Given the description of an element on the screen output the (x, y) to click on. 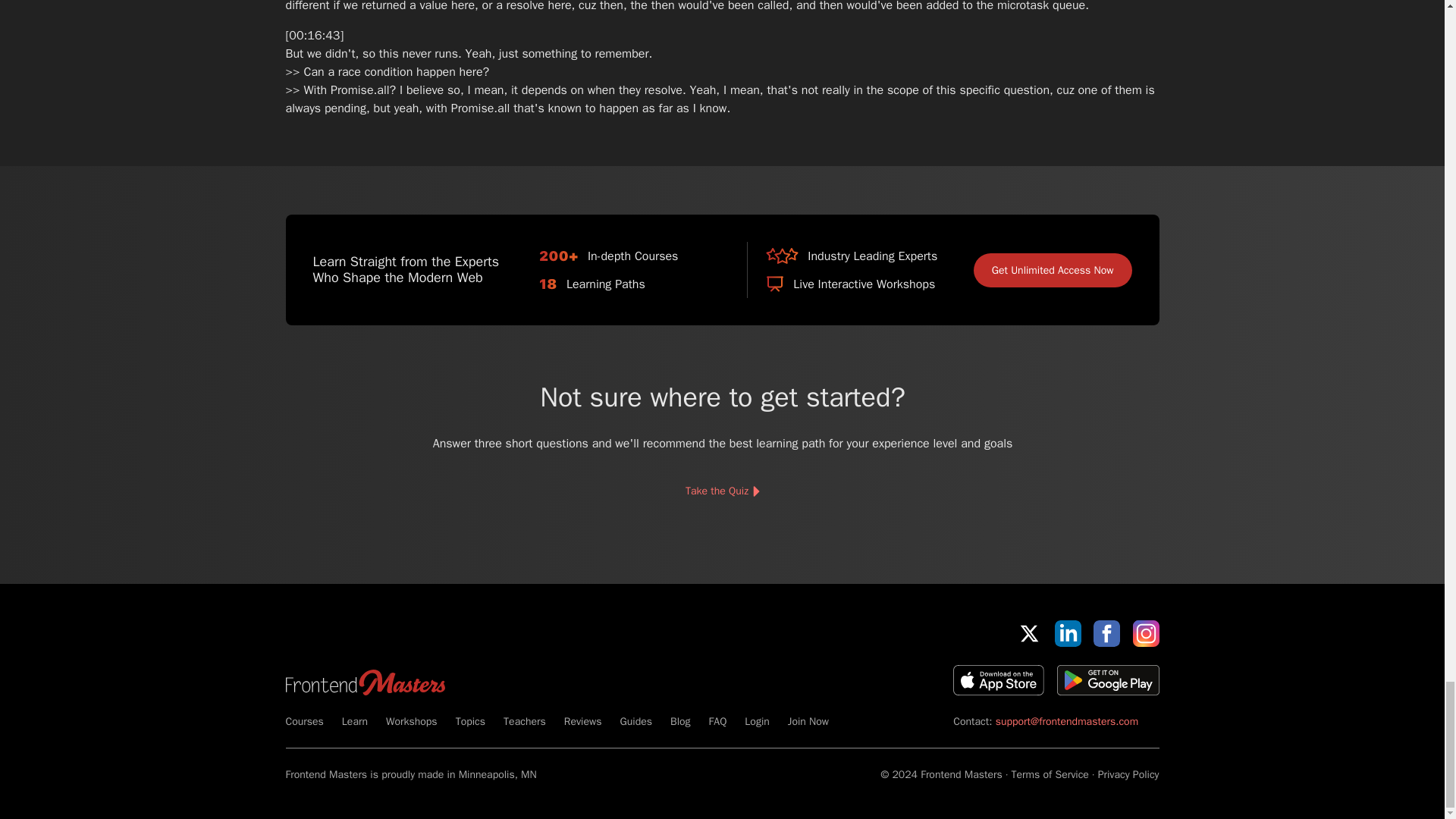
Reviews (583, 721)
Google App Store (1107, 680)
Blog (679, 721)
Courses (304, 721)
Take the Quiz (720, 490)
Join Now (807, 721)
Facebook (1106, 633)
Teachers (524, 721)
LinkedIn (1067, 633)
FrontendMasters (364, 682)
Instagram (1145, 633)
Learn (355, 721)
Topics (469, 721)
Login (756, 721)
Apple App Store (998, 680)
